Given the description of an element on the screen output the (x, y) to click on. 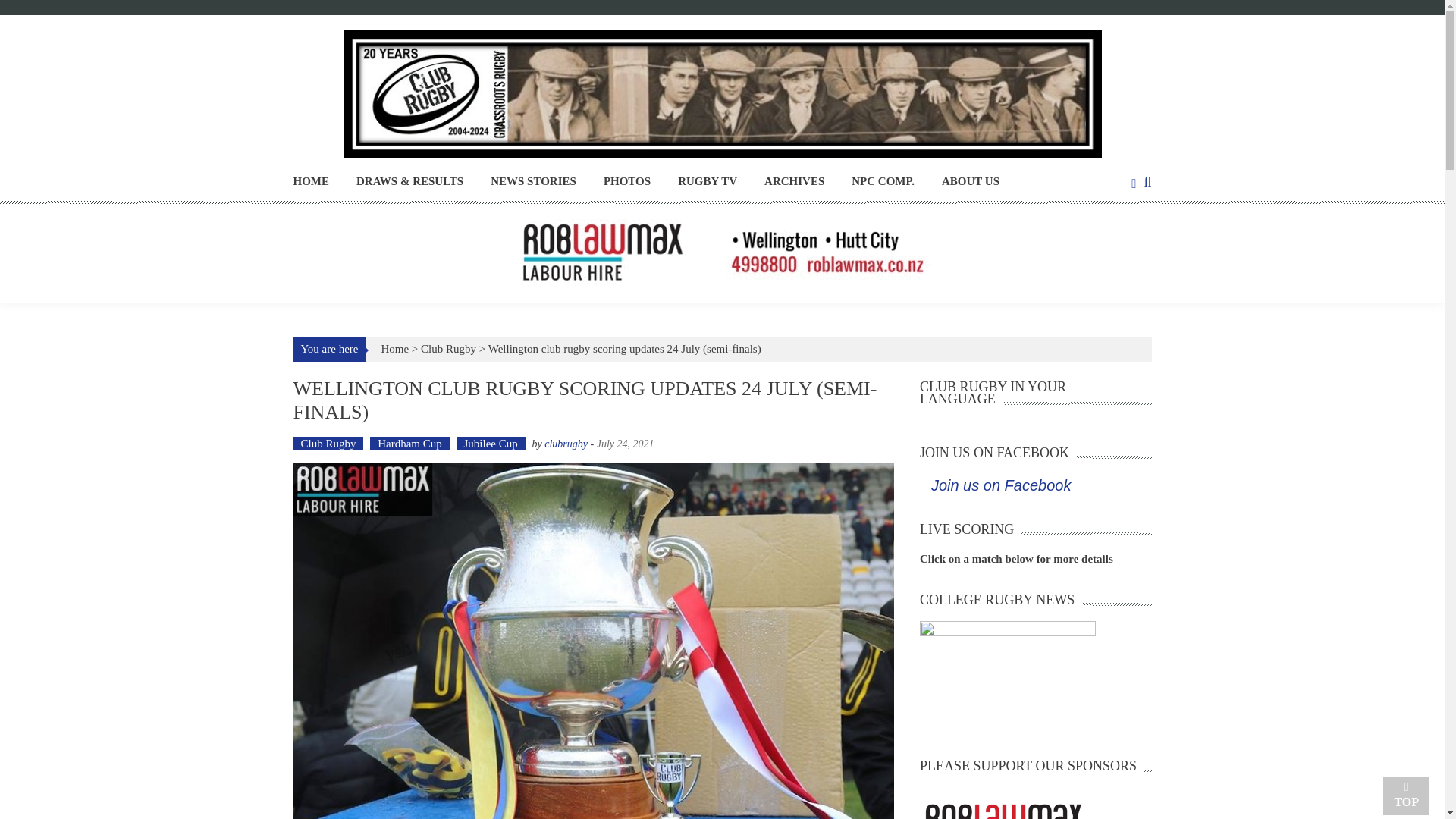
Club Rugby (448, 348)
Search (862, 422)
NPC COMP. (882, 181)
Jubilee Cup (491, 443)
PHOTOS (627, 181)
NEWS STORIES (533, 181)
clubrugby (566, 443)
Hardham Cup (409, 443)
ABOUT US (970, 181)
ARCHIVES (794, 181)
